Given the description of an element on the screen output the (x, y) to click on. 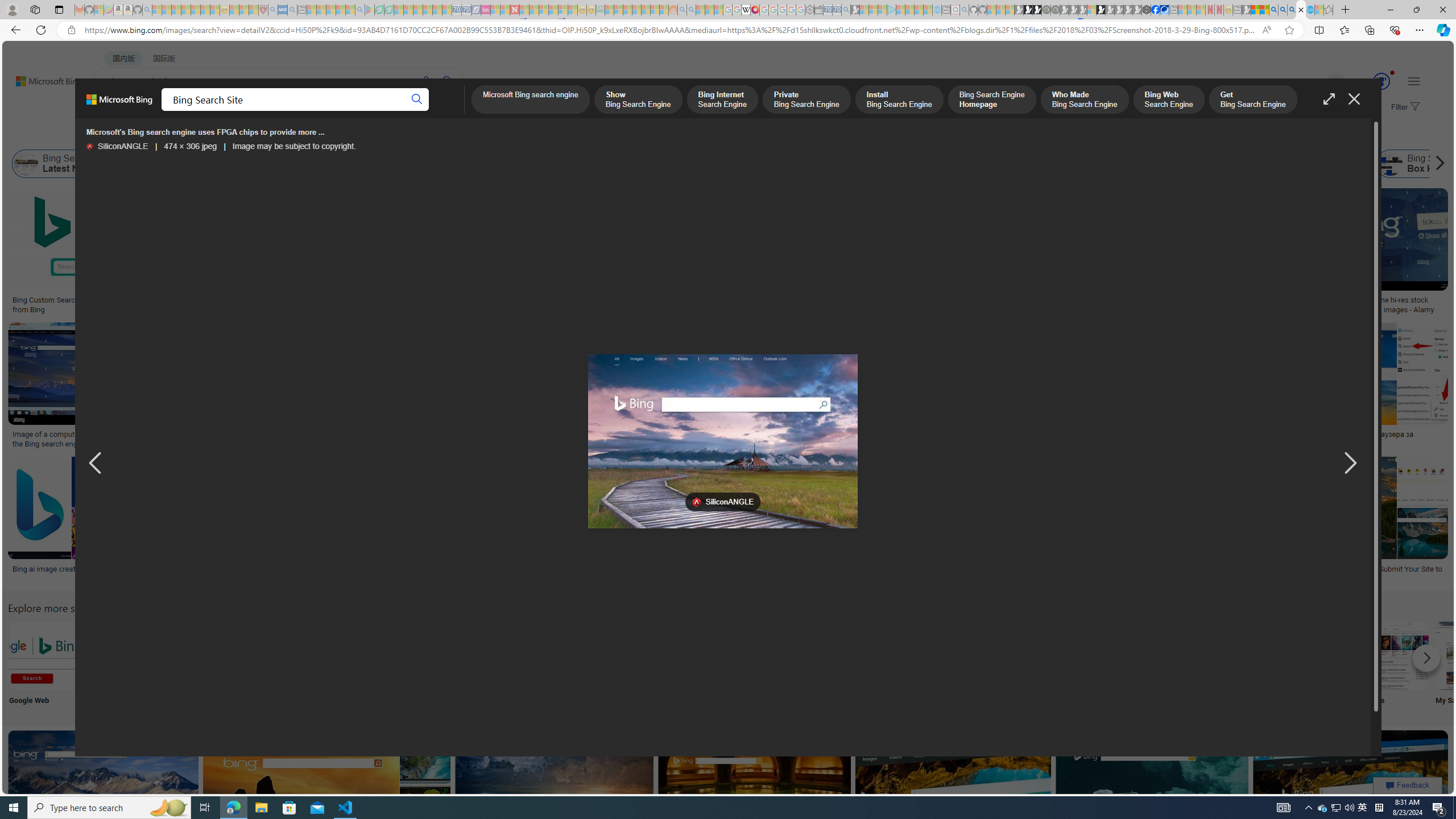
Play Zoo Boom in your browser | Games from Microsoft Start (1027, 9)
NCL Adult Asthma Inhaler Choice Guideline - Sleeping (282, 9)
Bing Custom Search: A New Site Search Solution from BingSave (98, 252)
SiliconANGLE (89, 146)
Address and search bar (669, 29)
Bing ai image creator (47, 568)
Bing Web (1229, 163)
App bar (728, 29)
